Given the description of an element on the screen output the (x, y) to click on. 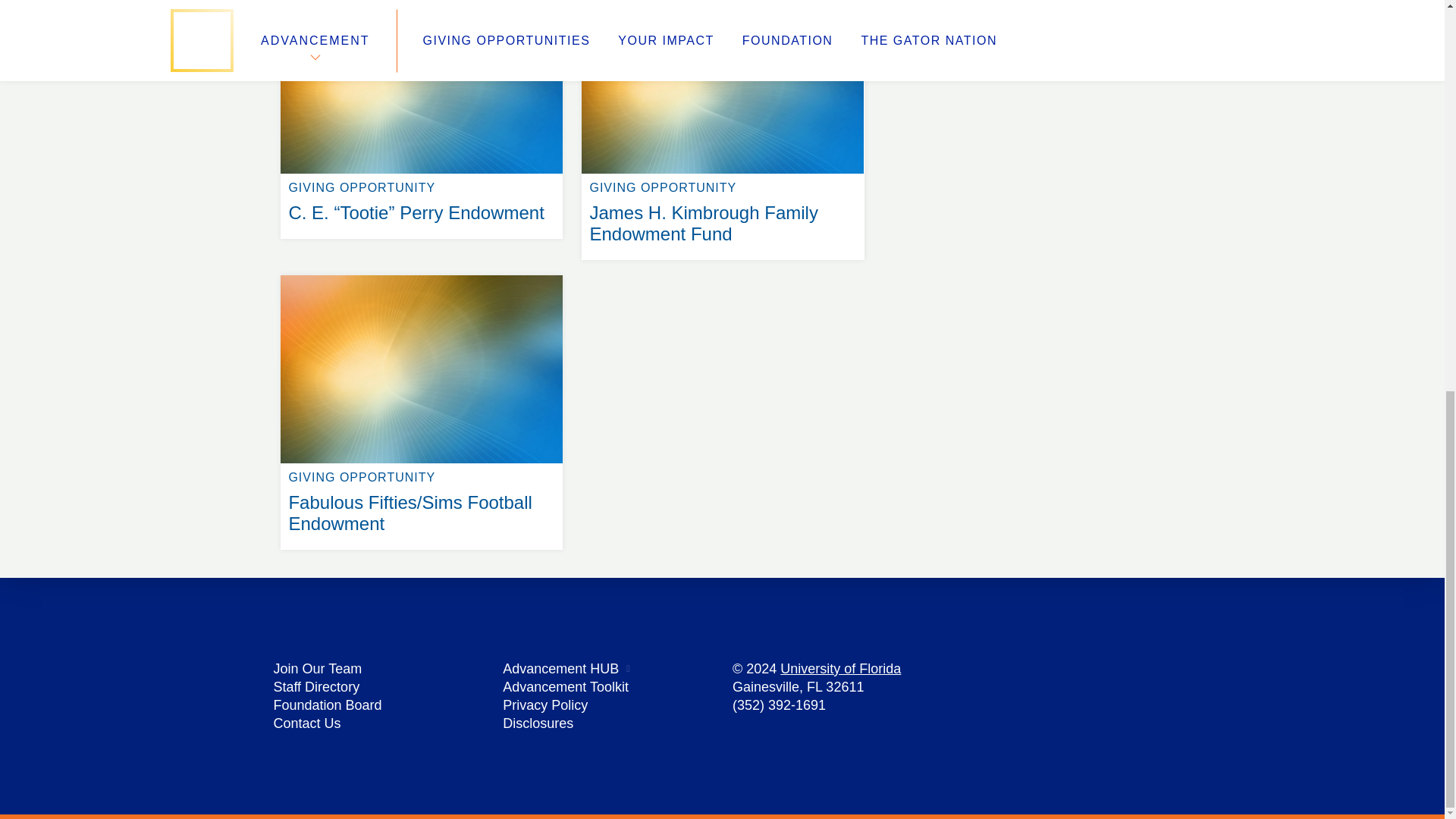
Disclosures (537, 723)
Contact Us (306, 723)
University of Florida (840, 668)
Foundation Board (327, 704)
Staff Directory (316, 686)
Join Our Team (317, 668)
Advancement HUB (560, 668)
Privacy Policy (545, 704)
Advancement Toolkit (565, 686)
